Given the description of an element on the screen output the (x, y) to click on. 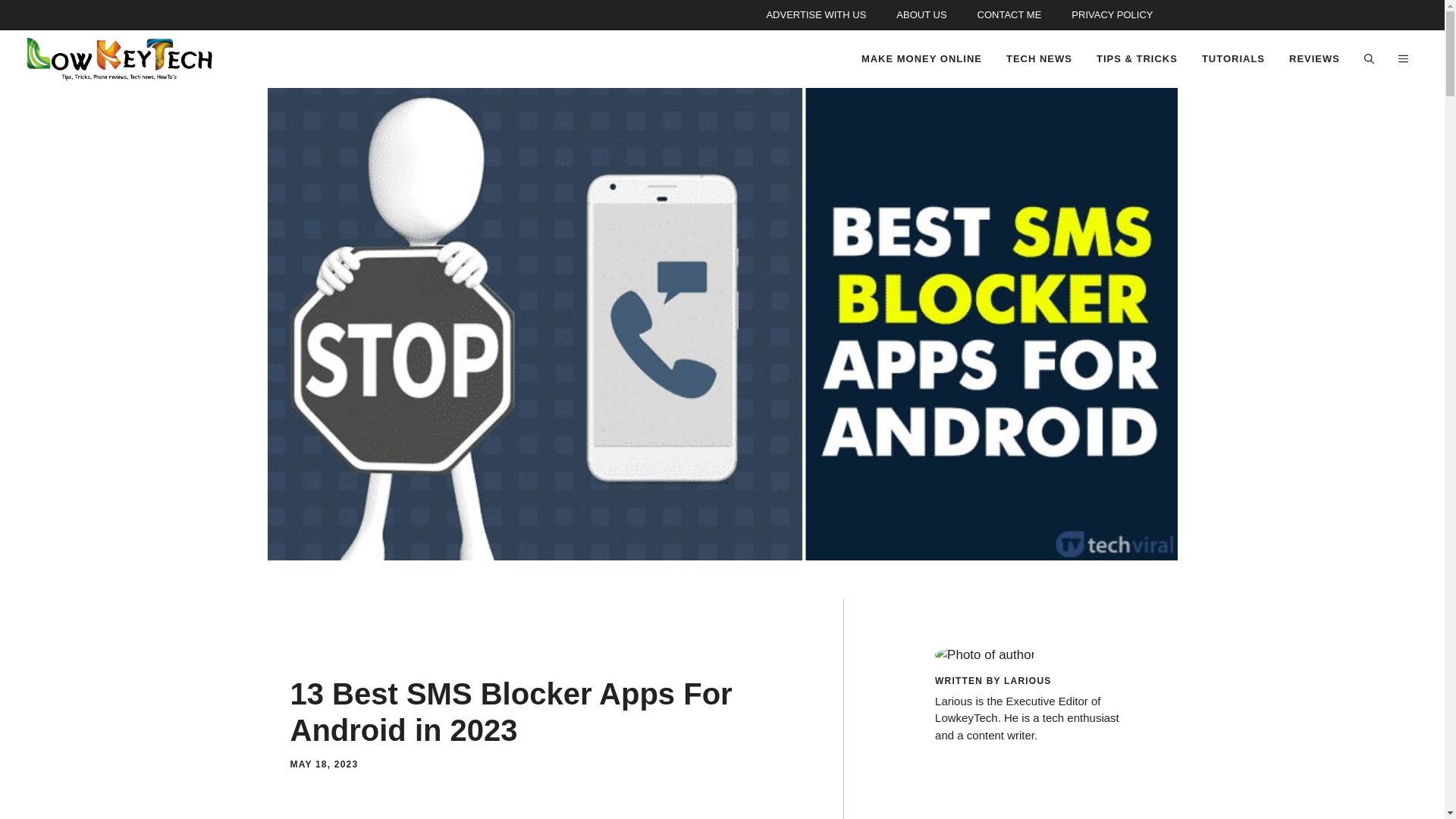
ADVERTISE WITH US (815, 15)
About the site and author (920, 15)
REVIEWS (1314, 58)
PRIVACY POLICY (1112, 15)
TUTORIALS (1232, 58)
advert placement (815, 15)
Our privacy policy (1112, 15)
ABOUT US (920, 15)
CONTACT ME (1009, 15)
MAKE MONEY ONLINE (921, 58)
